Given the description of an element on the screen output the (x, y) to click on. 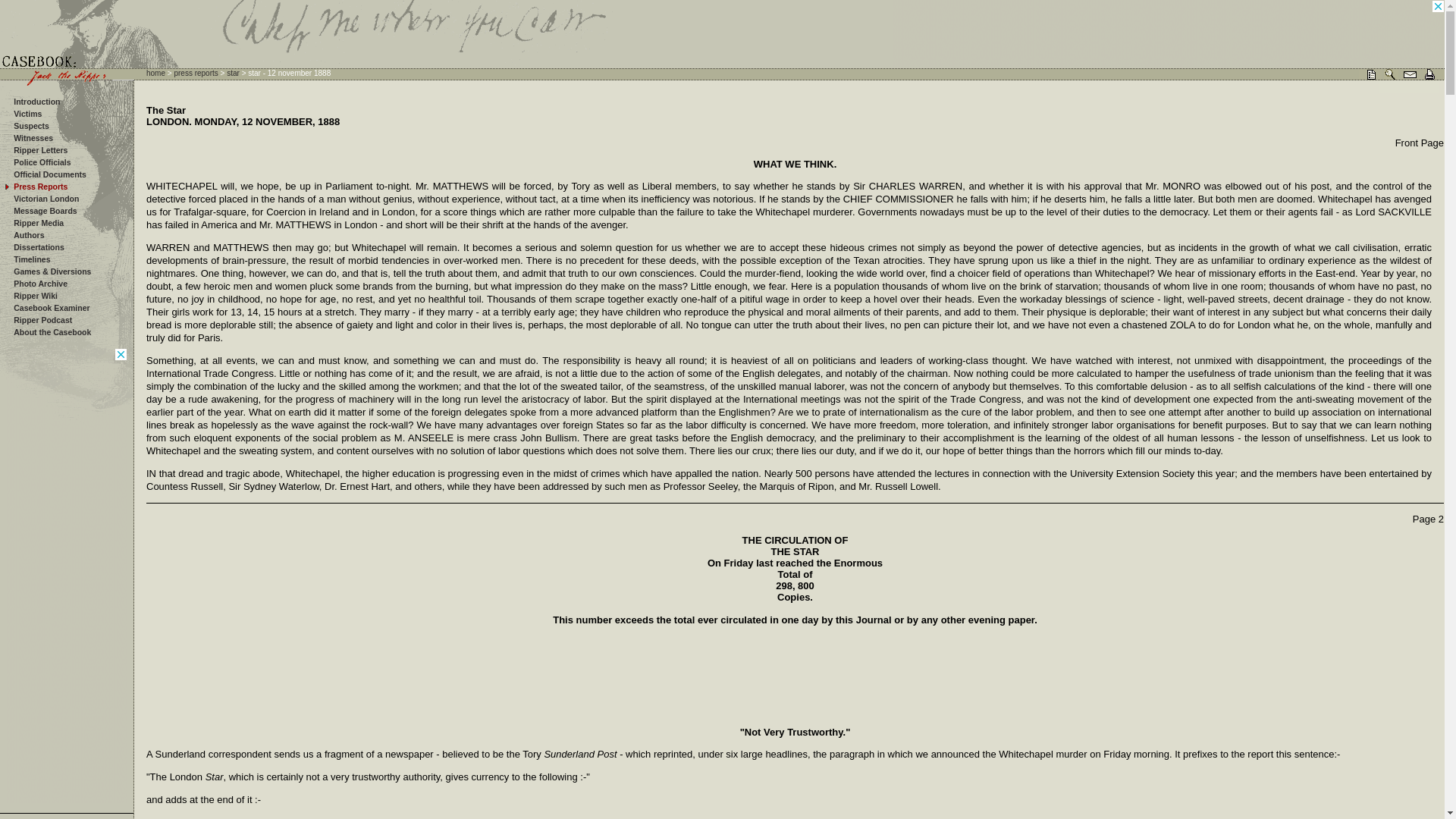
home (156, 72)
Press Reports (39, 185)
Ripper Wiki (35, 295)
Witnesses (32, 137)
Ripper Media (38, 222)
Police Officials (41, 162)
Casebook Examiner (50, 307)
Introduction (36, 101)
Message Boards (45, 210)
Victims (27, 112)
Ripper Podcast (42, 319)
press reports (194, 72)
Photo Archive (39, 283)
About the Casebook (51, 331)
Suspects (31, 125)
